Given the description of an element on the screen output the (x, y) to click on. 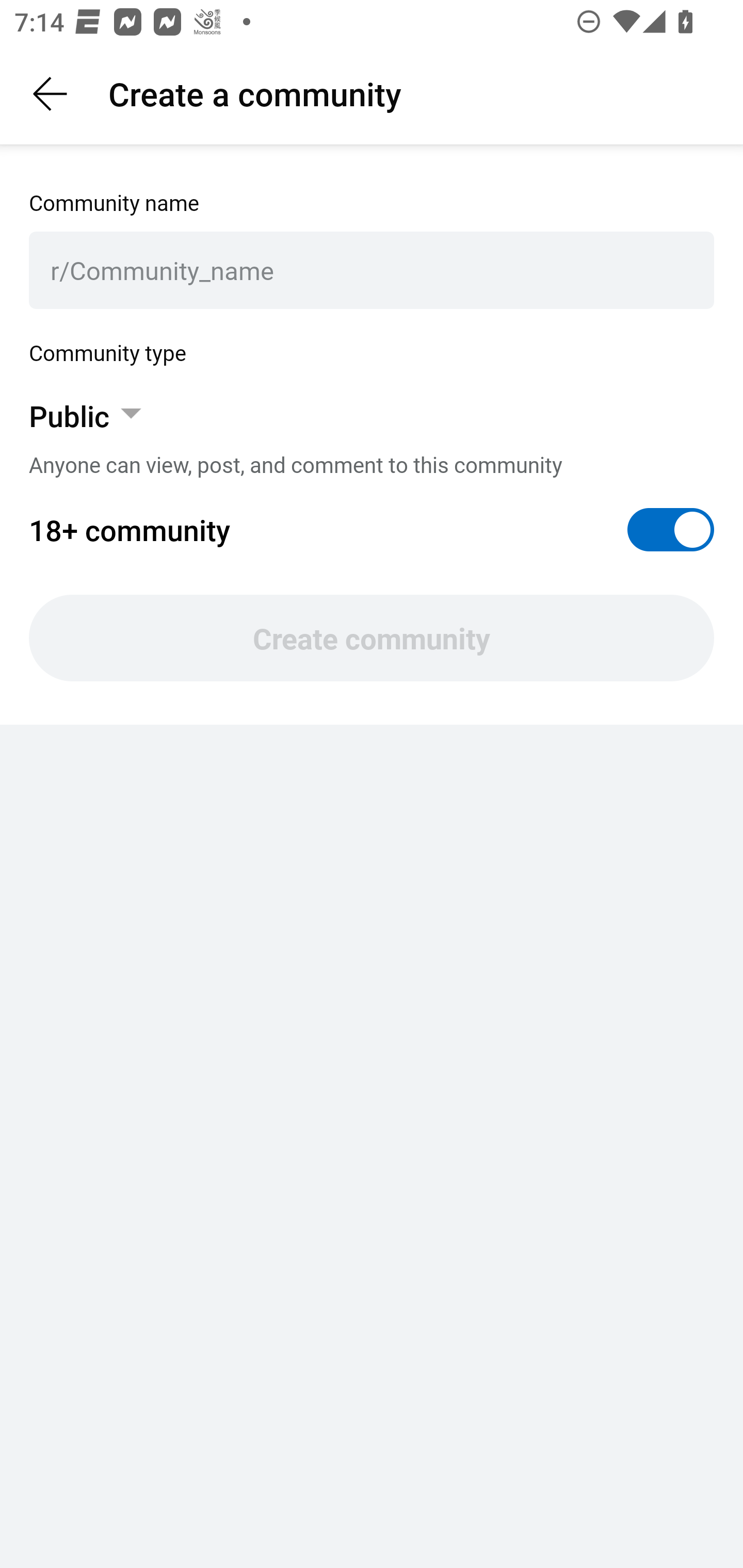
Community_name (380, 270)
18+ community (371, 529)
Create community (371, 638)
